Given the description of an element on the screen output the (x, y) to click on. 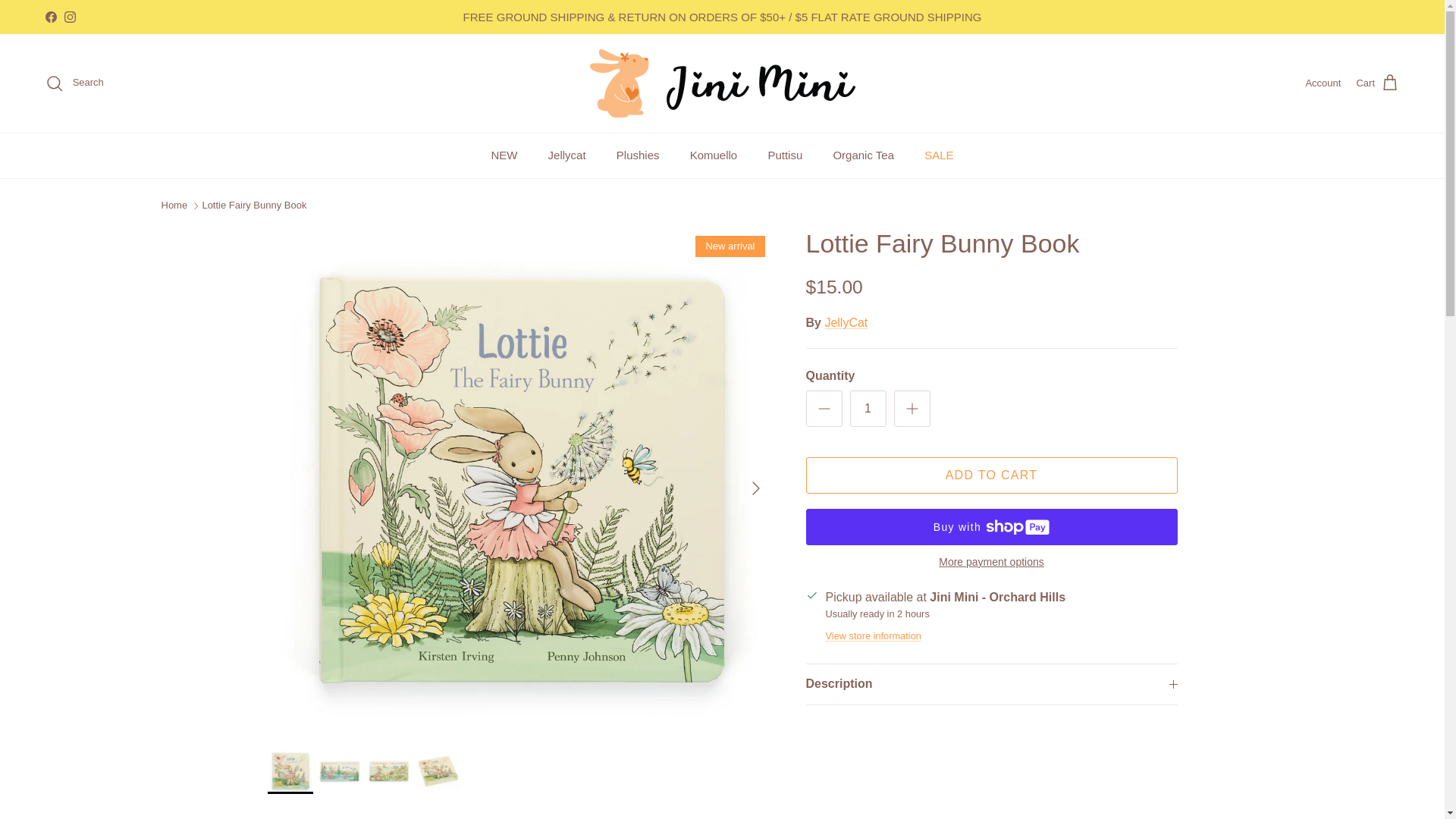
Jellycat (566, 155)
Search (74, 83)
1 (866, 408)
NEW (504, 155)
JINI MINI on Facebook (50, 16)
Instagram (69, 16)
Facebook (50, 16)
Account (1322, 83)
Komuello (714, 155)
JINI MINI (722, 83)
JINI MINI on Instagram (69, 16)
Plushies (637, 155)
Cart (1377, 83)
